Given the description of an element on the screen output the (x, y) to click on. 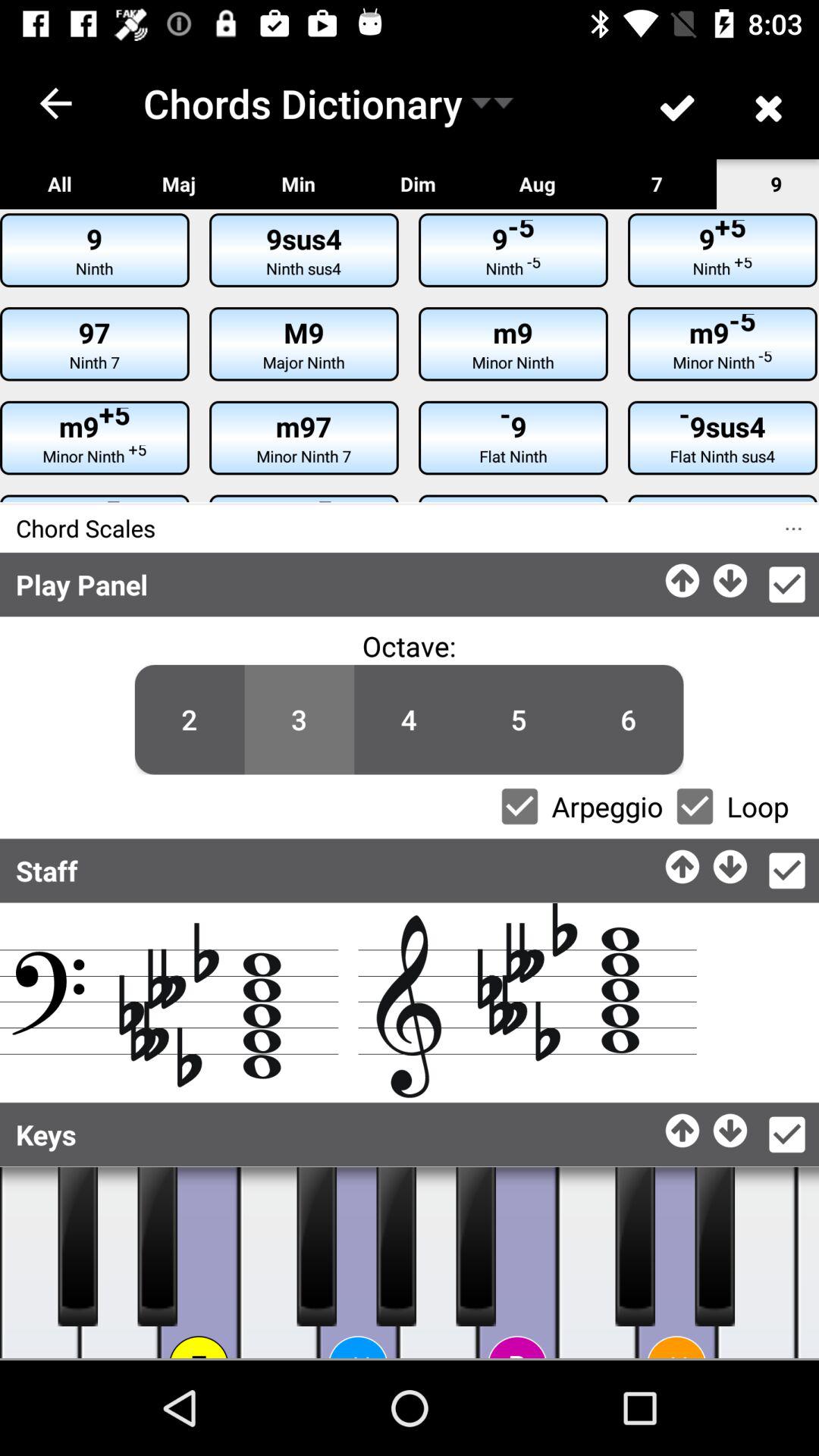
music board key (756, 1262)
